Given the description of an element on the screen output the (x, y) to click on. 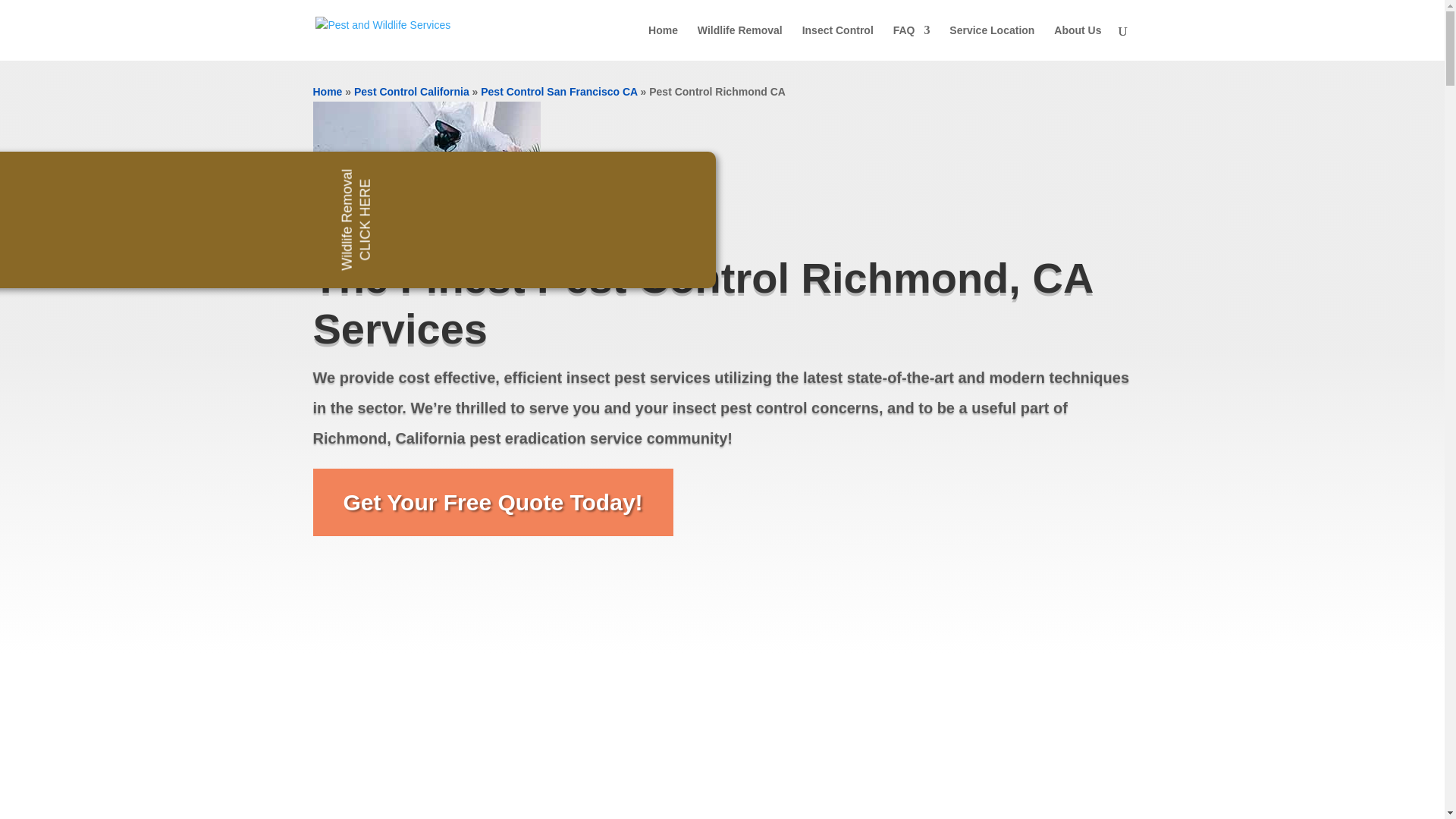
Get Your Free Quote Today! (492, 502)
Pest Control California (410, 91)
FAQ (911, 42)
Pest Control San Francisco CA (558, 91)
Home (327, 91)
About Us (1077, 42)
Service Location (991, 42)
Insect Control (837, 42)
Wildlife Removal (740, 42)
